Given the description of an element on the screen output the (x, y) to click on. 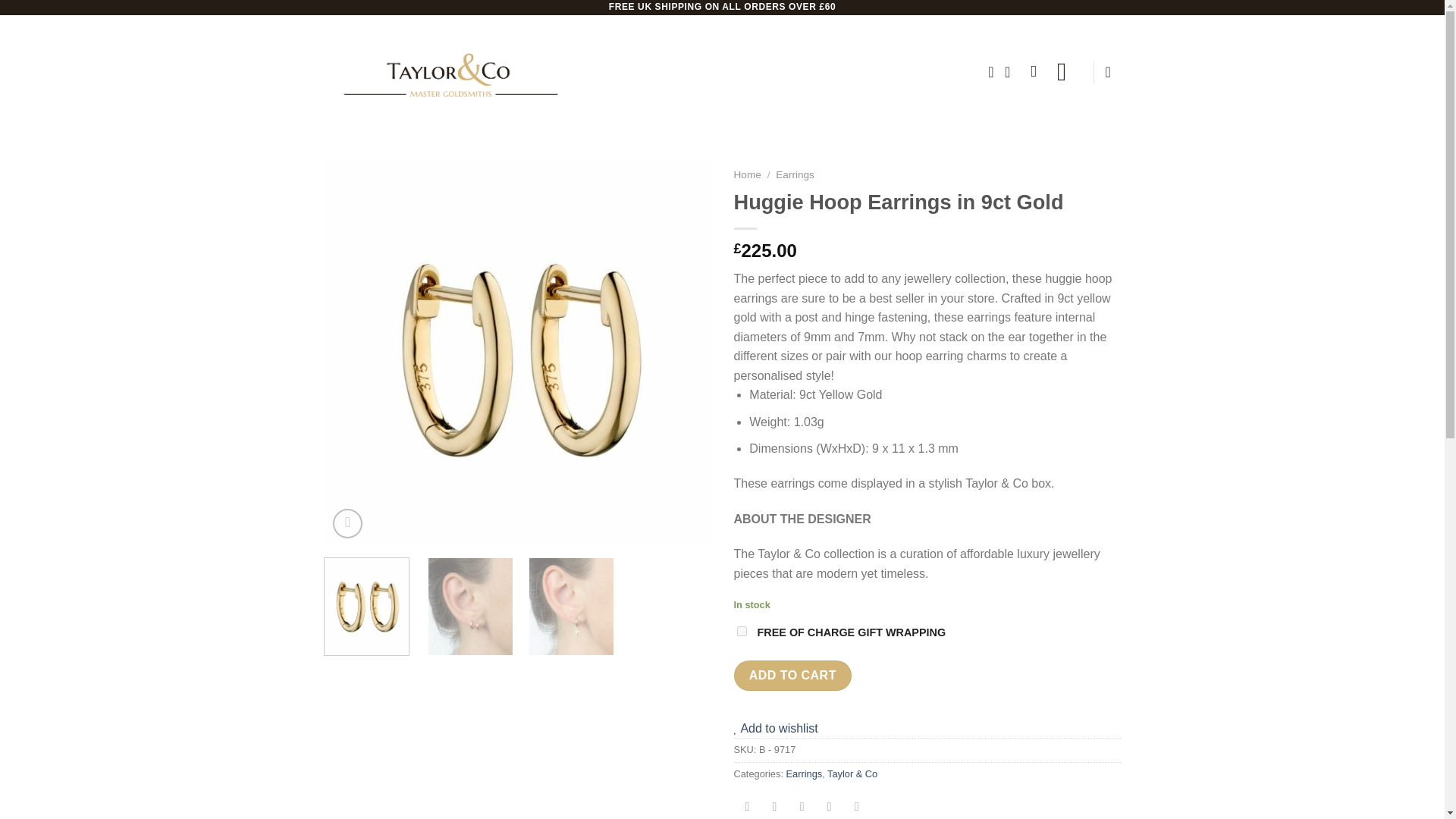
Email to a Friend (801, 807)
Zoom (347, 523)
Earrings (794, 174)
Earrings (804, 773)
ADD TO CART (792, 675)
Share on Facebook (747, 807)
1 (741, 631)
Share on Tumblr (856, 807)
Share on Twitter (774, 807)
Home (747, 174)
Pin on Pinterest (828, 807)
Add to wishlist (775, 727)
